Given the description of an element on the screen output the (x, y) to click on. 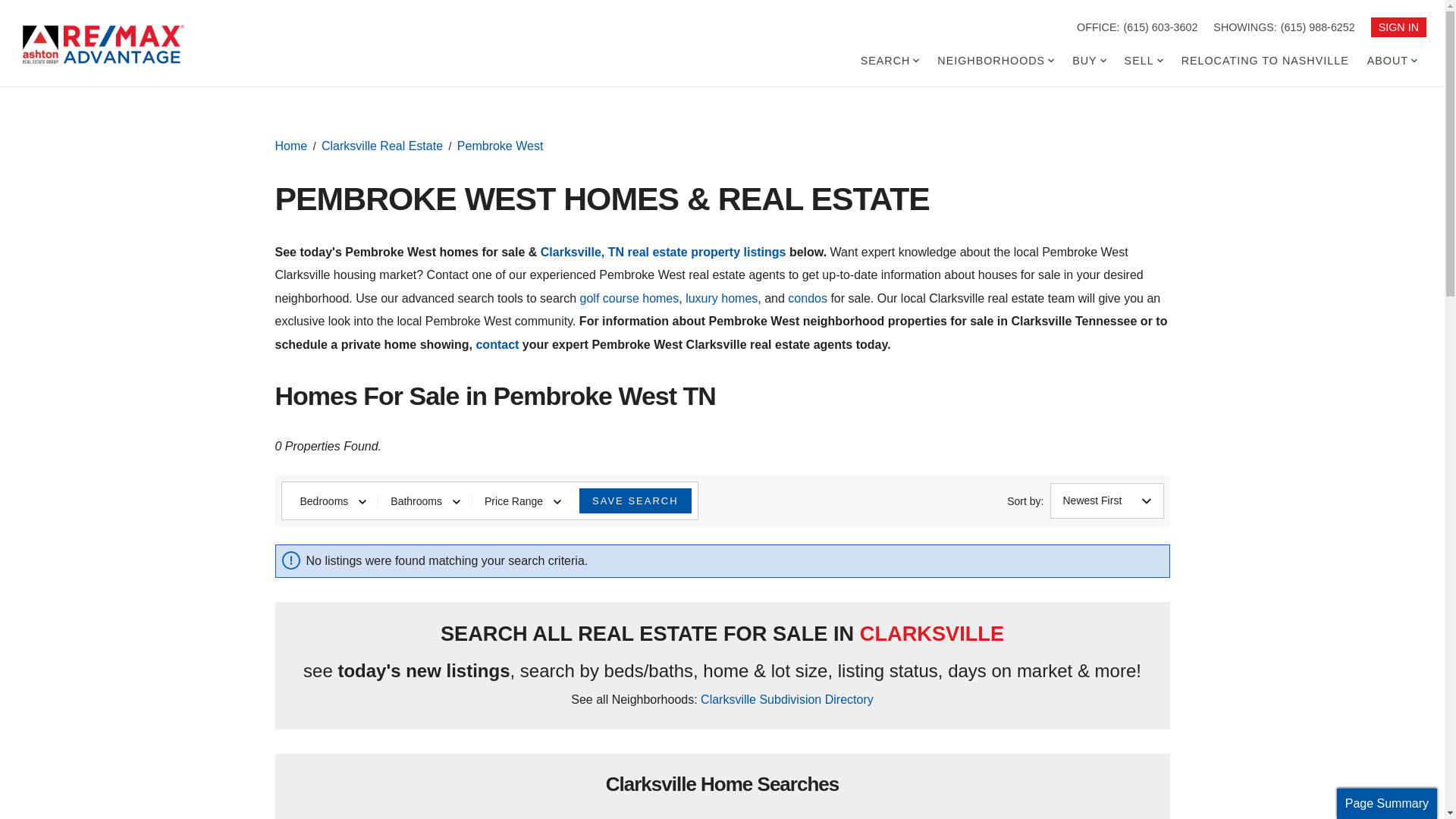
NEIGHBORHOODS (995, 60)
SIGN IN (1398, 26)
SEARCH (889, 60)
Page Summary (1386, 803)
